Given the description of an element on the screen output the (x, y) to click on. 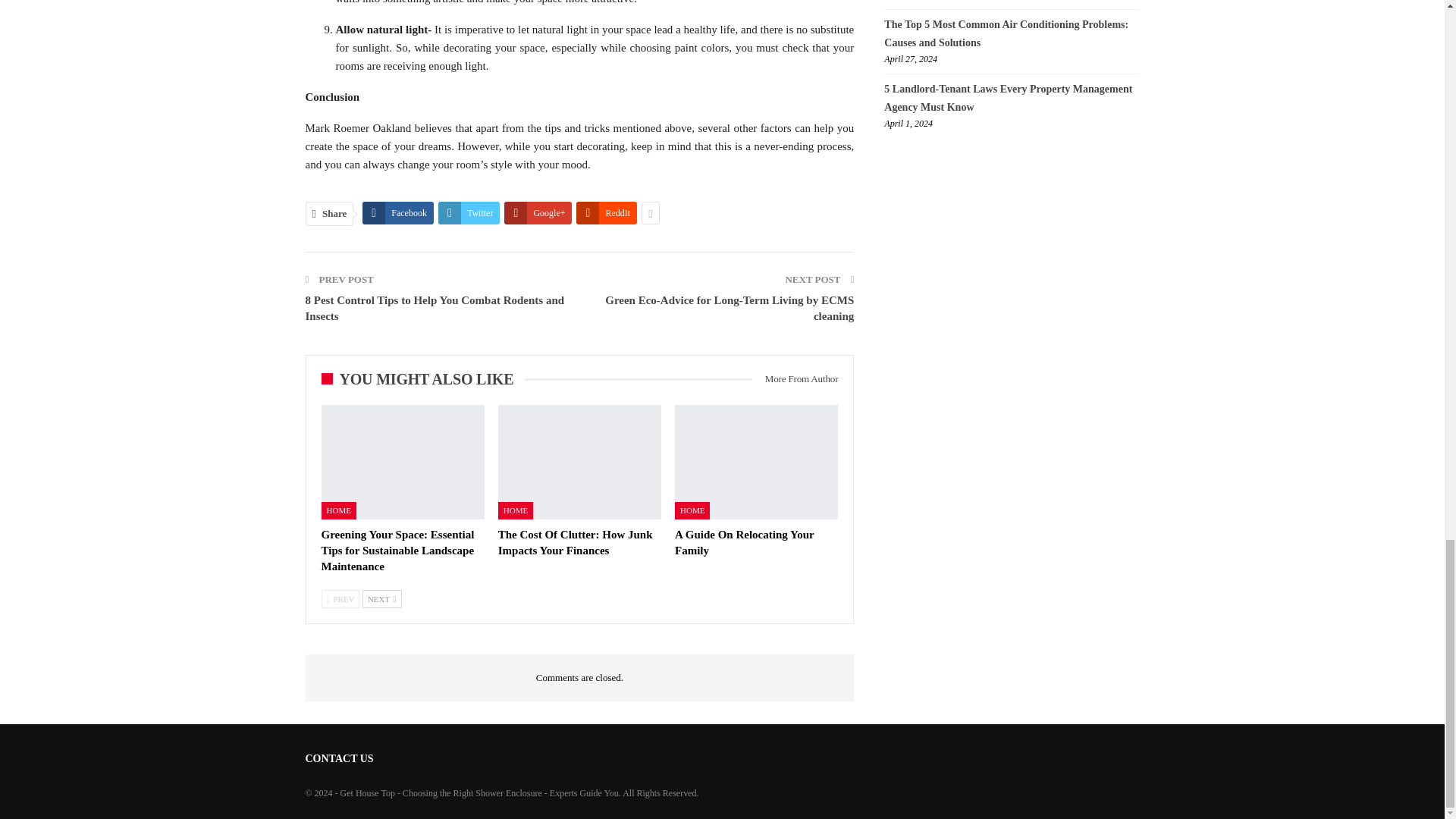
Twitter (468, 212)
Facebook (397, 212)
Next (381, 598)
Previous (340, 598)
The Cost Of Clutter: How Junk Impacts Your Finances (579, 461)
A Guide On Relocating Your Family (756, 461)
A Guide On Relocating Your Family (744, 542)
The Cost Of Clutter: How Junk Impacts Your Finances (574, 542)
